Given the description of an element on the screen output the (x, y) to click on. 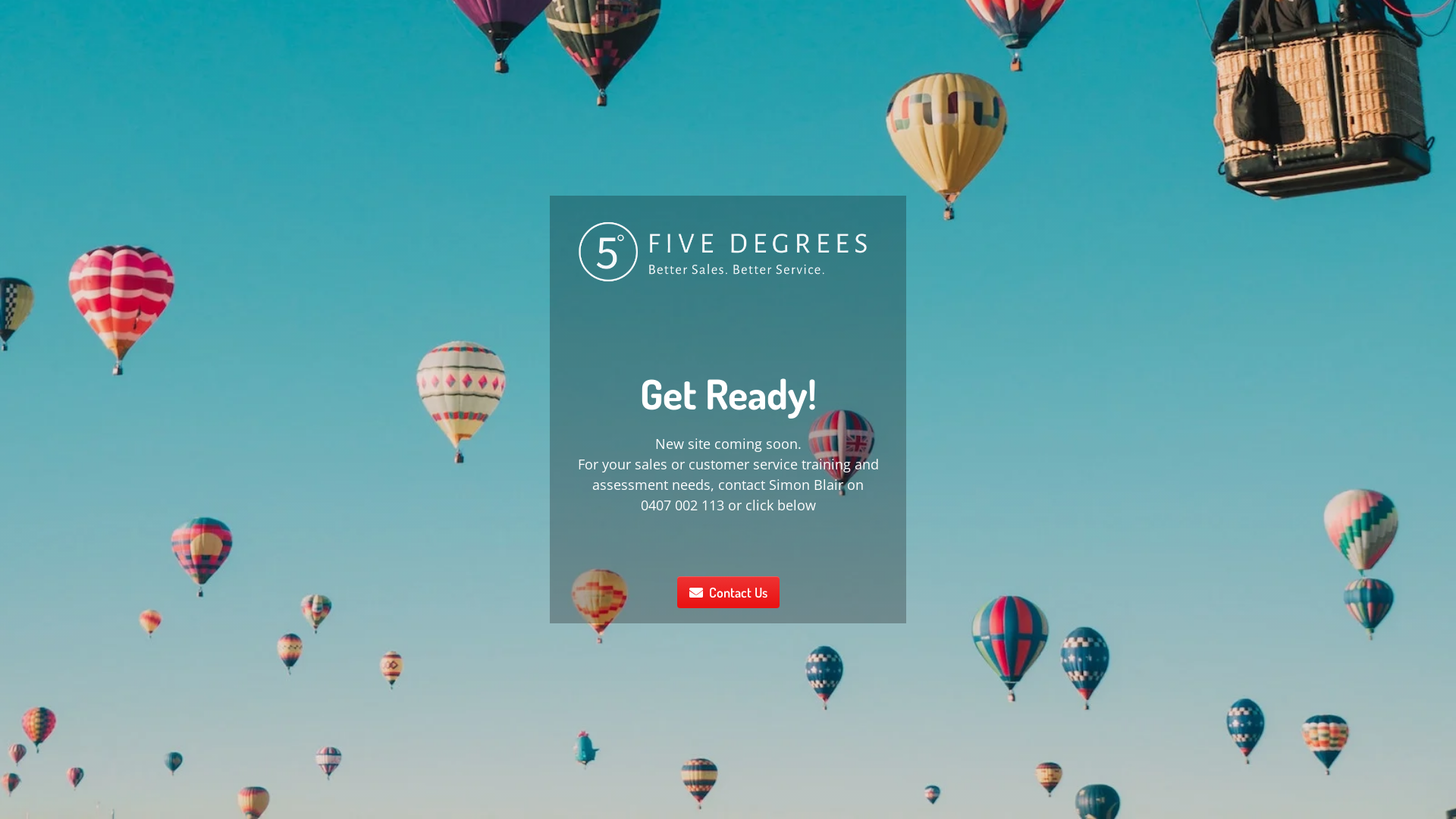
Contact Us Element type: text (727, 592)
